Given the description of an element on the screen output the (x, y) to click on. 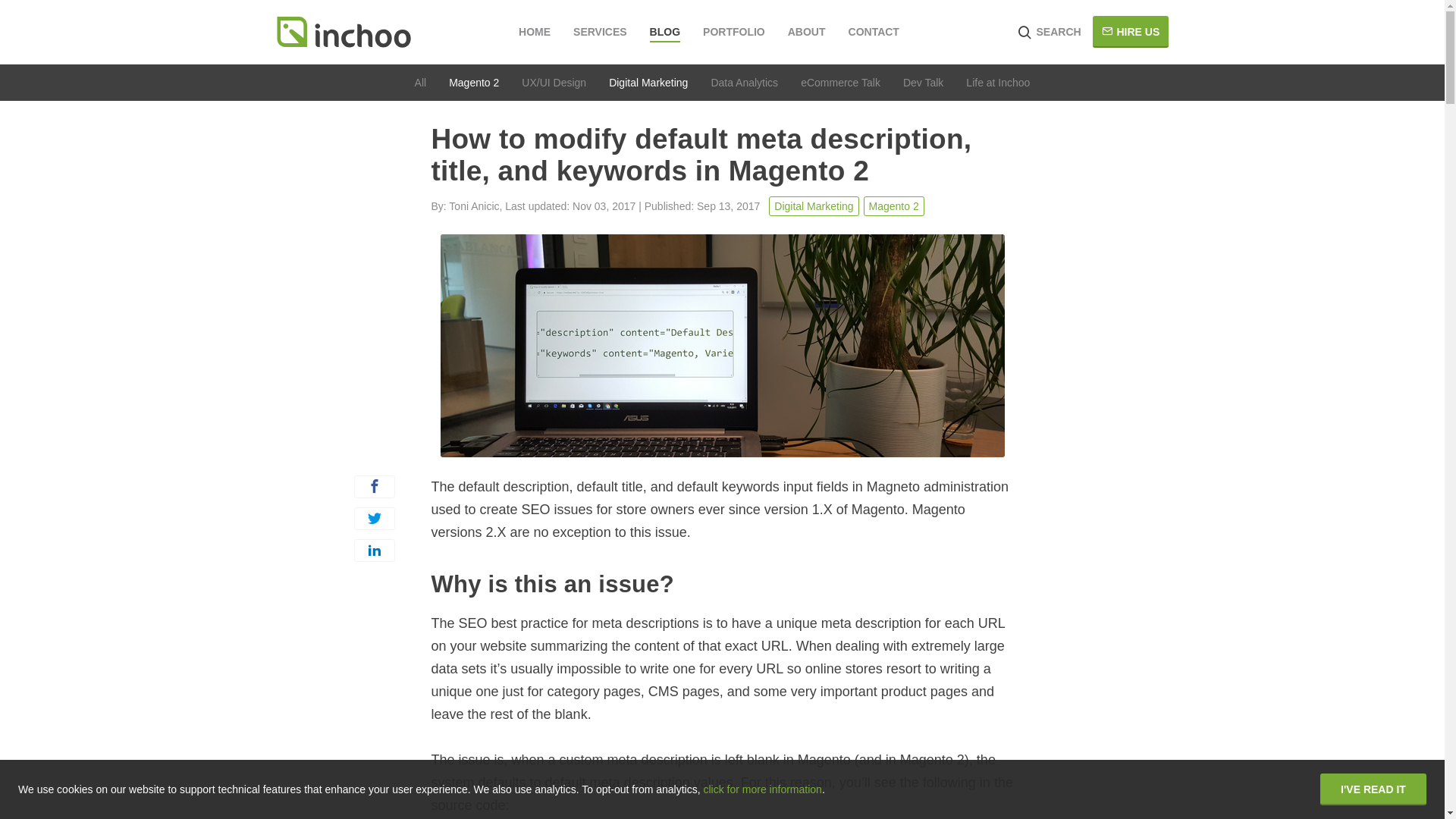
Magento 2 (893, 206)
Magento 2 Articles (473, 82)
Dev Talk (922, 82)
HOME (534, 31)
Inchoo (343, 31)
SERVICES (600, 31)
Facebook (373, 486)
eCommerce Talk (840, 82)
CONTACT (873, 31)
Life at Inchoo (997, 82)
Digital Marketing (647, 82)
eCommerce Talk Articles (840, 82)
PORTFOLIO (734, 31)
Digital Marketing Articles (647, 82)
BLOG (664, 32)
